Given the description of an element on the screen output the (x, y) to click on. 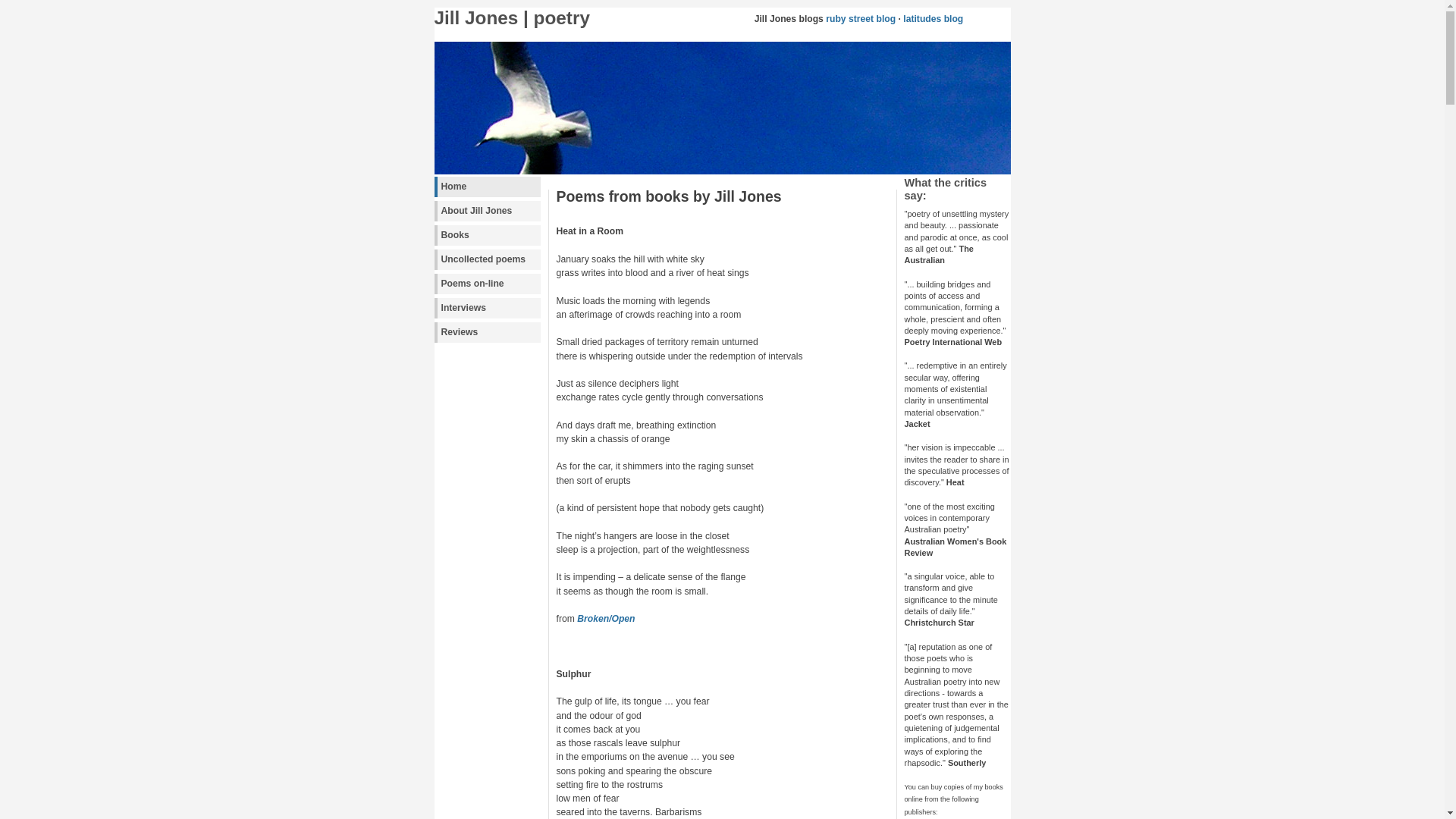
ruby street blog Element type: text (860, 18)
Uncollected poems Element type: text (486, 259)
Interviews Element type: text (486, 308)
Home Element type: text (486, 186)
latitudes blog Element type: text (933, 18)
Jill Jones | poetry Element type: text (511, 17)
Reviews Element type: text (486, 332)
Books Element type: text (486, 235)
Broken/Open Element type: text (605, 618)
Poems on-line Element type: text (486, 283)
About Jill Jones Element type: text (486, 210)
